Given the description of an element on the screen output the (x, y) to click on. 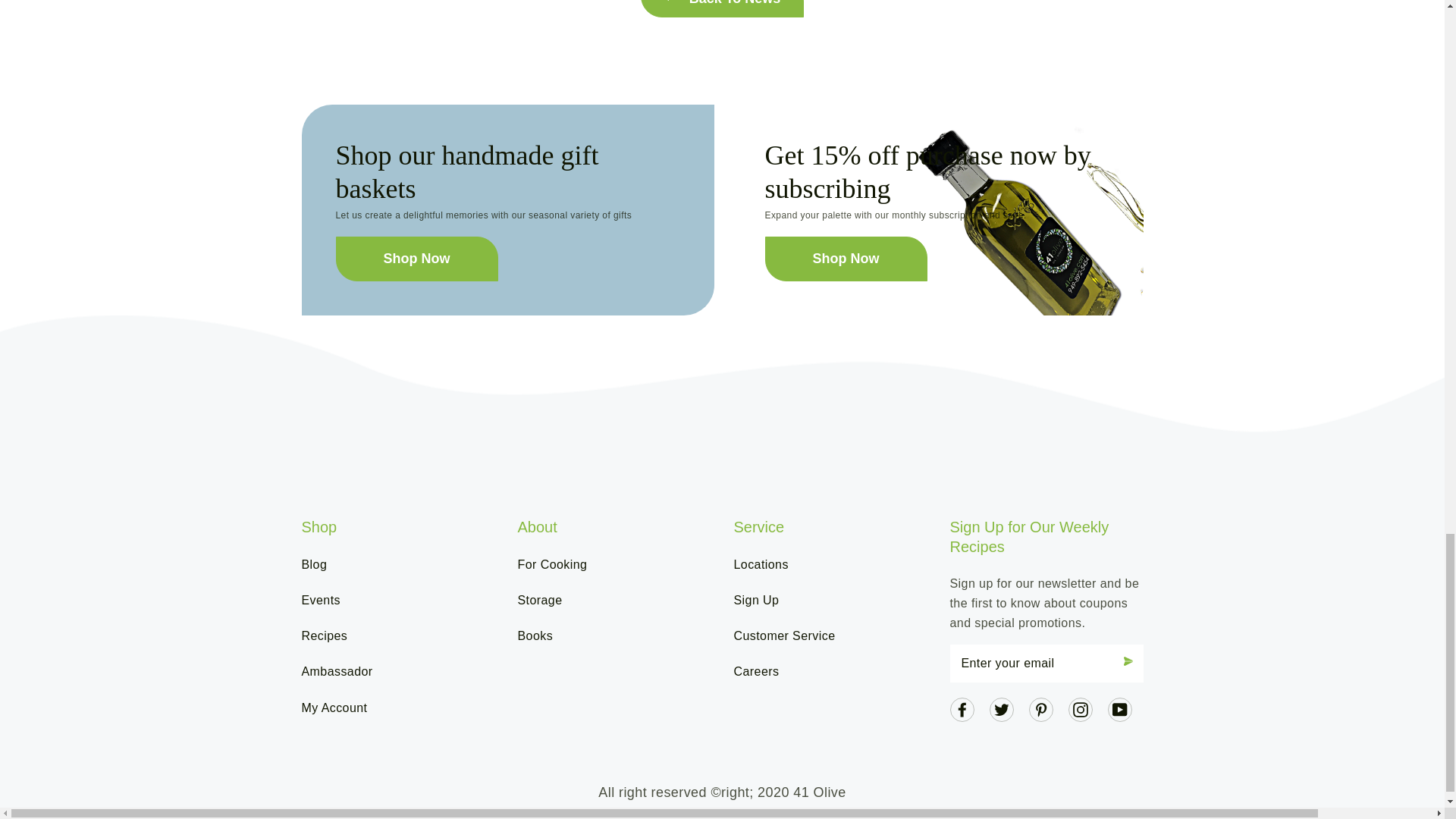
41 Olive on YouTube (1119, 707)
41 Olive on Facebook (961, 707)
41 Olive on Twitter (1001, 707)
41 Olive on Pinterest (1040, 707)
41 Olive on Instagram (1080, 707)
